Given the description of an element on the screen output the (x, y) to click on. 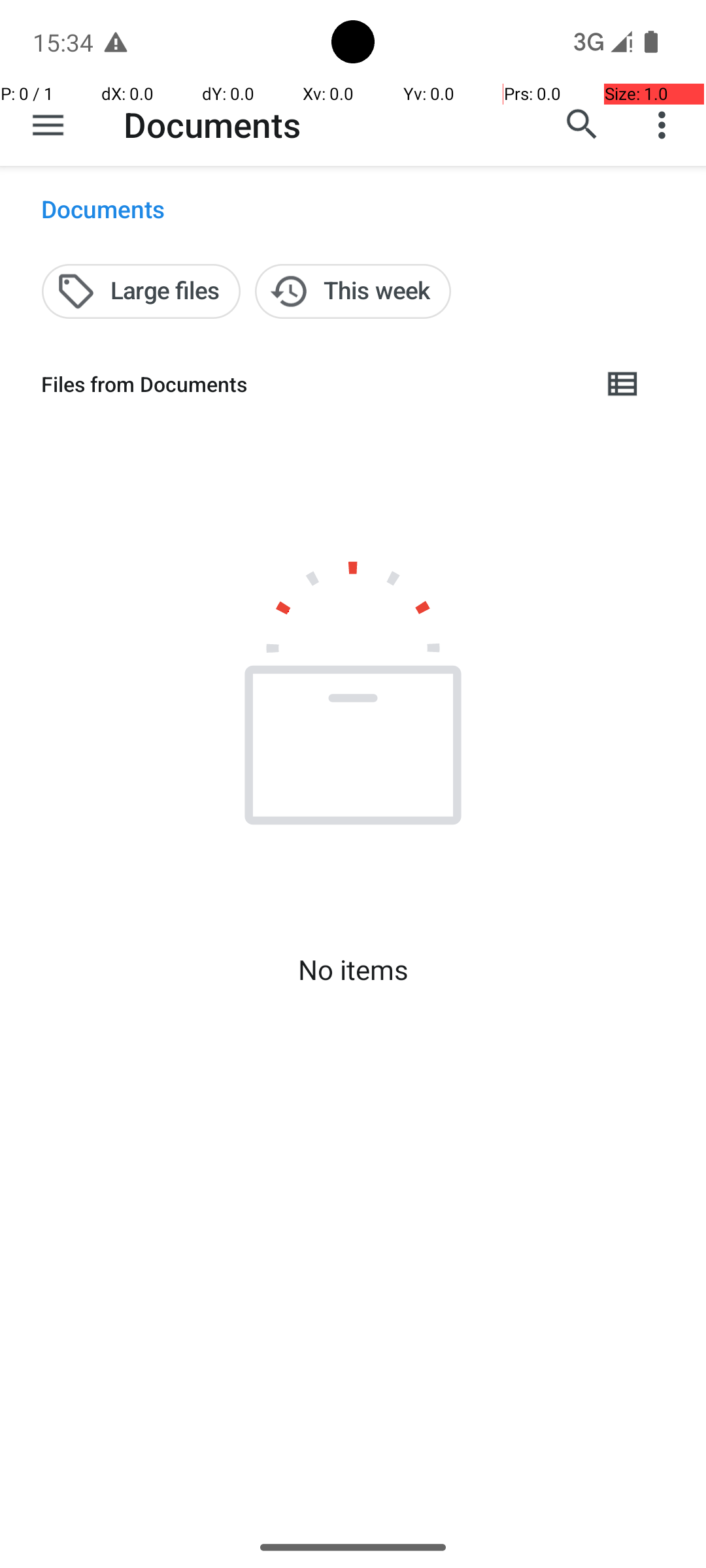
Files from Documents Element type: android.widget.TextView (311, 383)
